Given the description of an element on the screen output the (x, y) to click on. 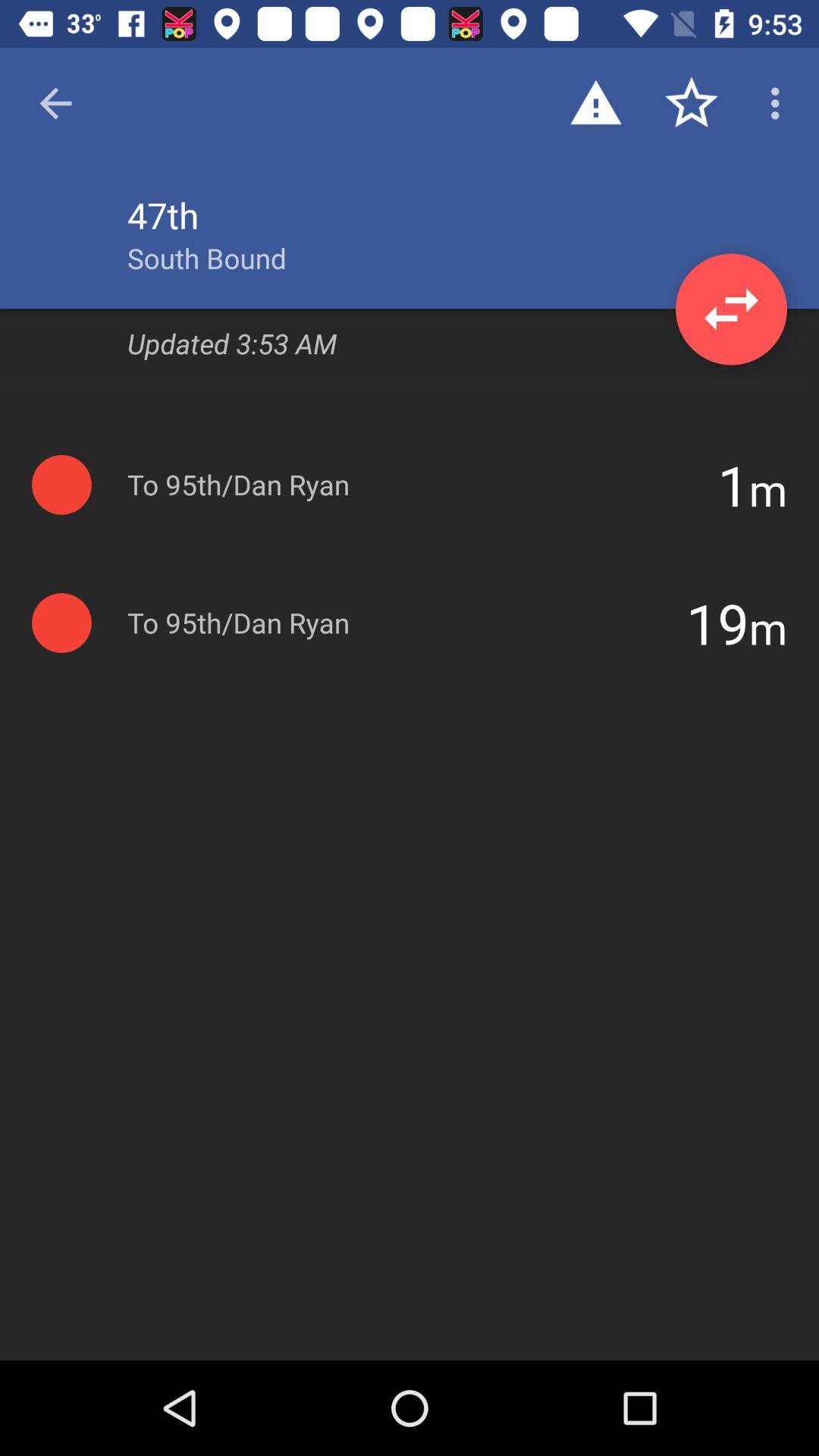
flip bus route (731, 309)
